Given the description of an element on the screen output the (x, y) to click on. 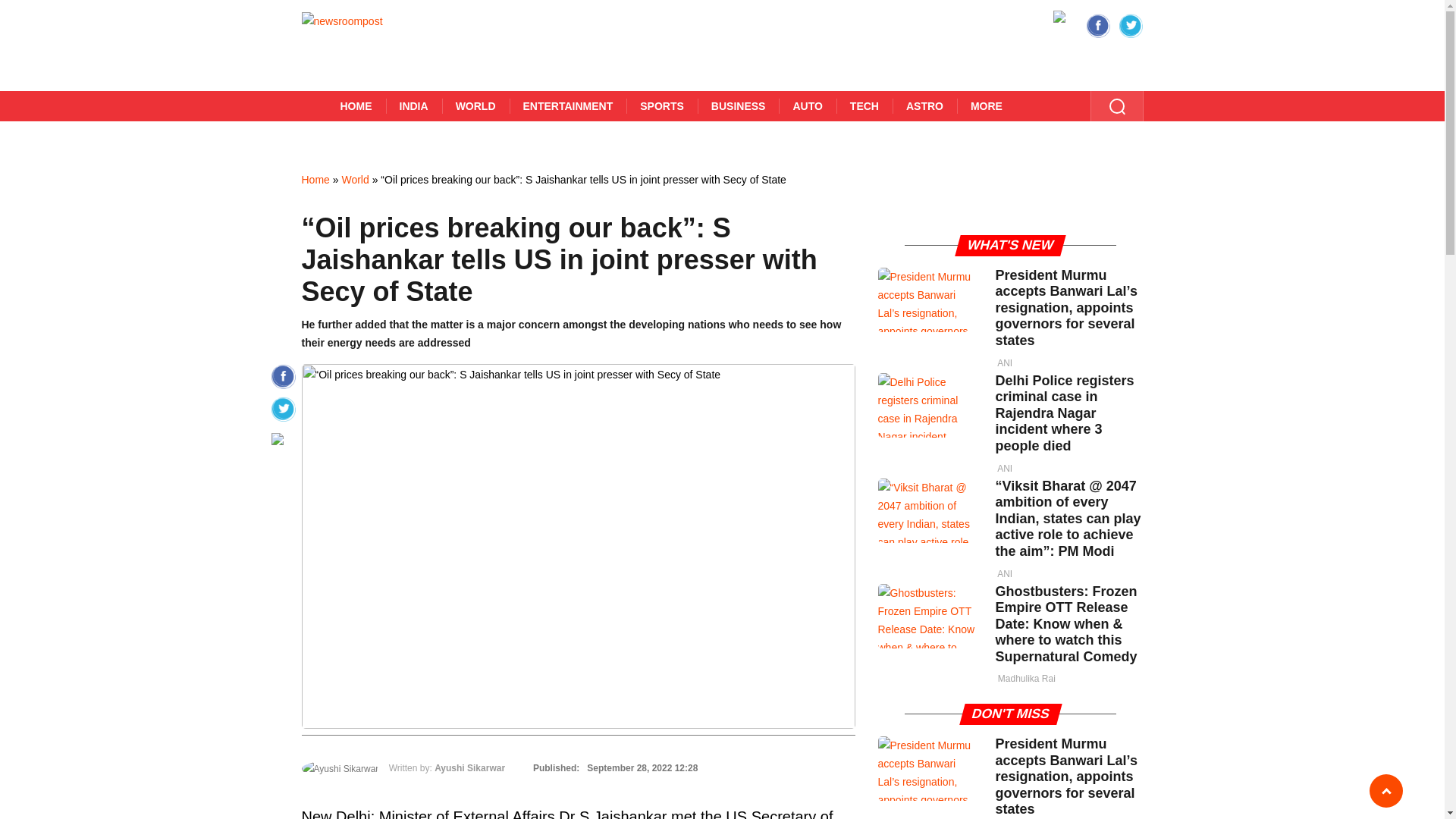
BUSINESS (737, 105)
ENTERTAINMENT (568, 105)
Posts by Ayushi Sikarwar (469, 767)
AUTO (806, 105)
INDIA (413, 105)
MORE (986, 105)
World (354, 179)
WORLD (475, 105)
ASTRO (924, 105)
TECH (863, 105)
Ayushi Sikarwar (469, 767)
Published:   September 28, 2022 12:28 (613, 767)
Home (315, 179)
HOME (355, 105)
SPORTS (661, 105)
